Given the description of an element on the screen output the (x, y) to click on. 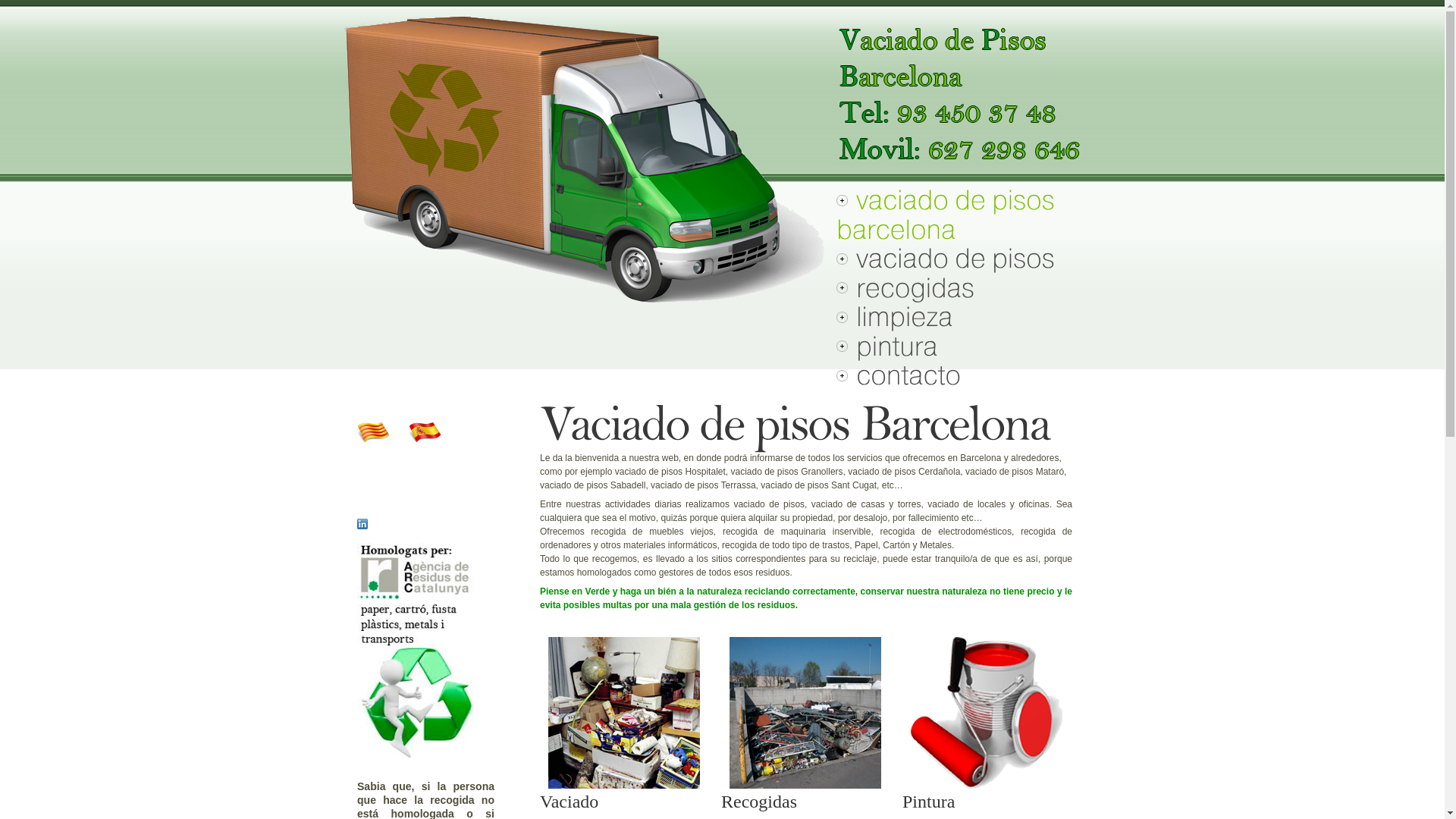
Vaciado de Pisos Element type: hover (623, 711)
Castellano Element type: hover (424, 430)
Pintura Element type: hover (986, 711)
Permanent Link to Vaciado de pisos Barcelona Element type: hover (794, 419)
Recogidas Element type: hover (804, 711)
